Given the description of an element on the screen output the (x, y) to click on. 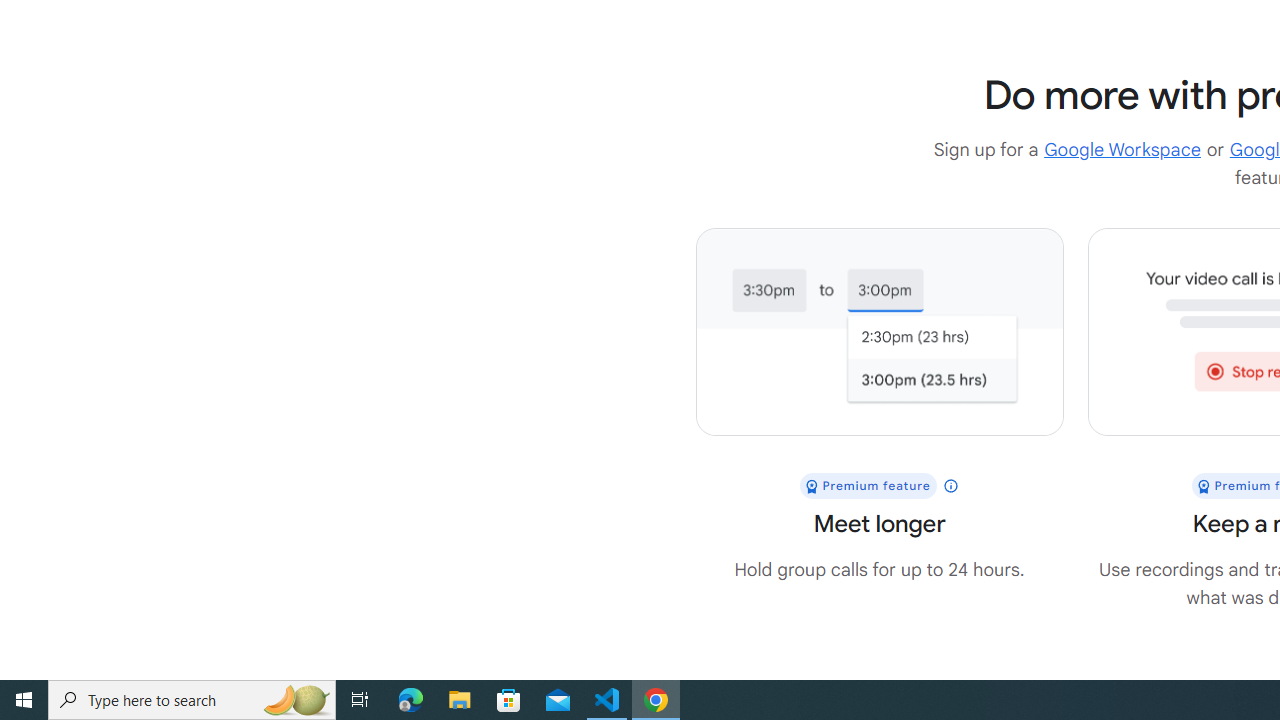
UI shows extending a meeting to 23.5 hours (879, 332)
Premium feature (879, 486)
Google Workspace (1122, 150)
